Given the description of an element on the screen output the (x, y) to click on. 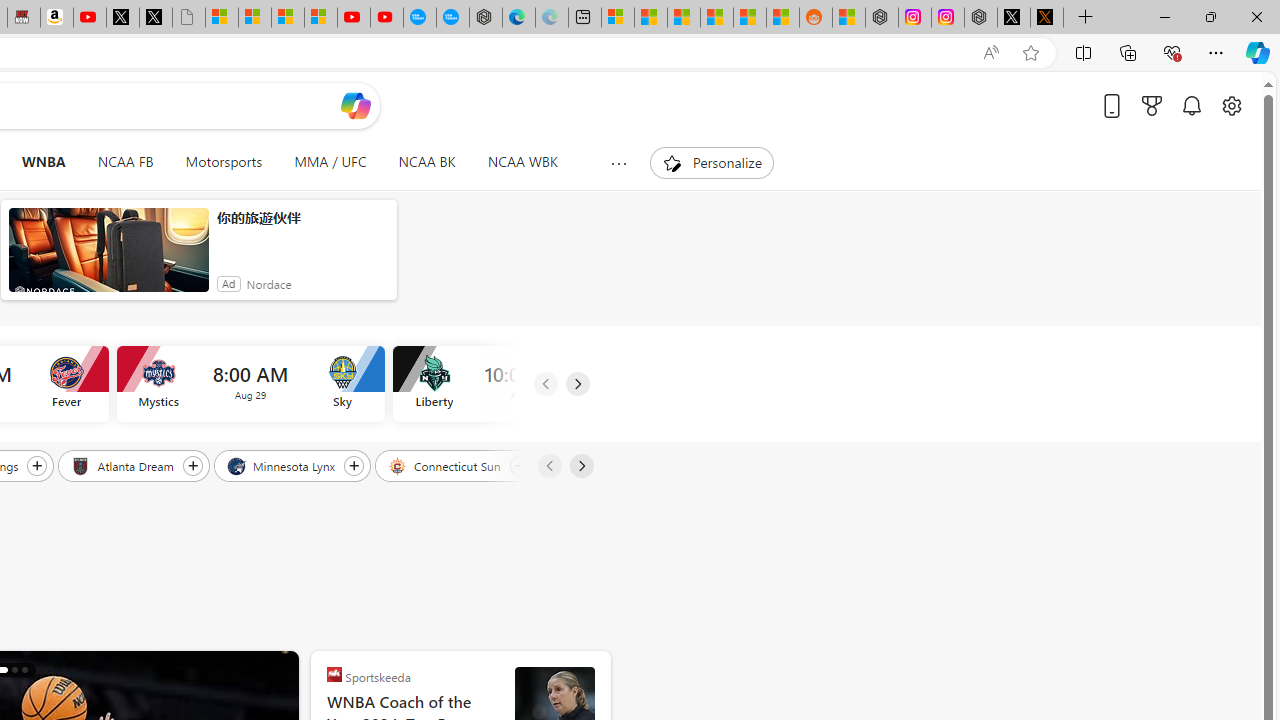
MMA / UFC (330, 162)
Sportskeeda (333, 673)
Follow Connecticut Sun (519, 465)
NCAA WBK (522, 162)
NCAA FB (125, 162)
The most popular Google 'how to' searches (452, 17)
Atlanta Dream (123, 465)
Motorsports (223, 162)
WNBA (43, 162)
Motorsports (223, 162)
